Given the description of an element on the screen output the (x, y) to click on. 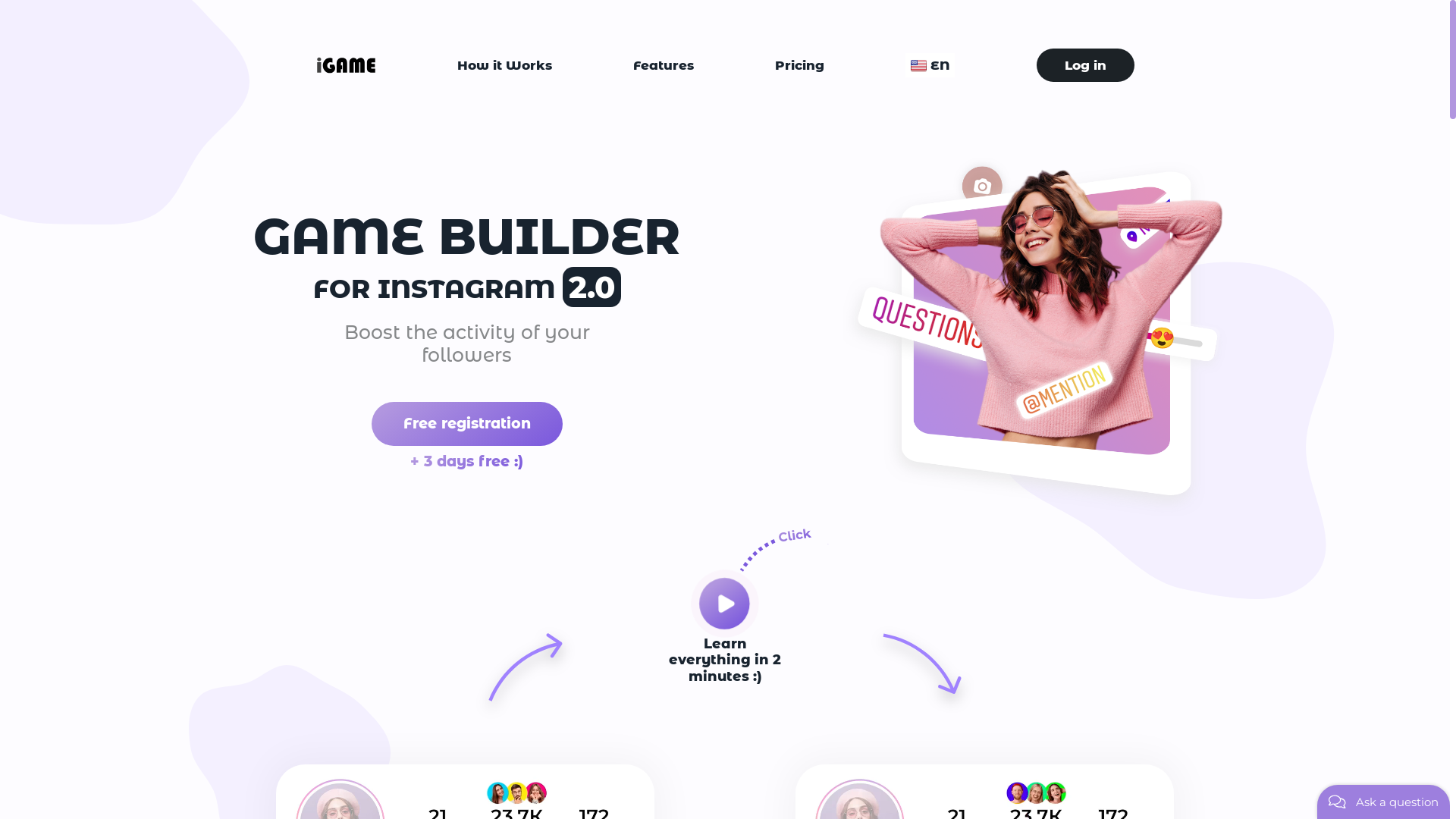
Features Element type: text (663, 64)
How it Works Element type: text (504, 64)
Log in Element type: text (1084, 64)
Pricing Element type: text (799, 64)
Free registration Element type: text (466, 423)
